Given the description of an element on the screen output the (x, y) to click on. 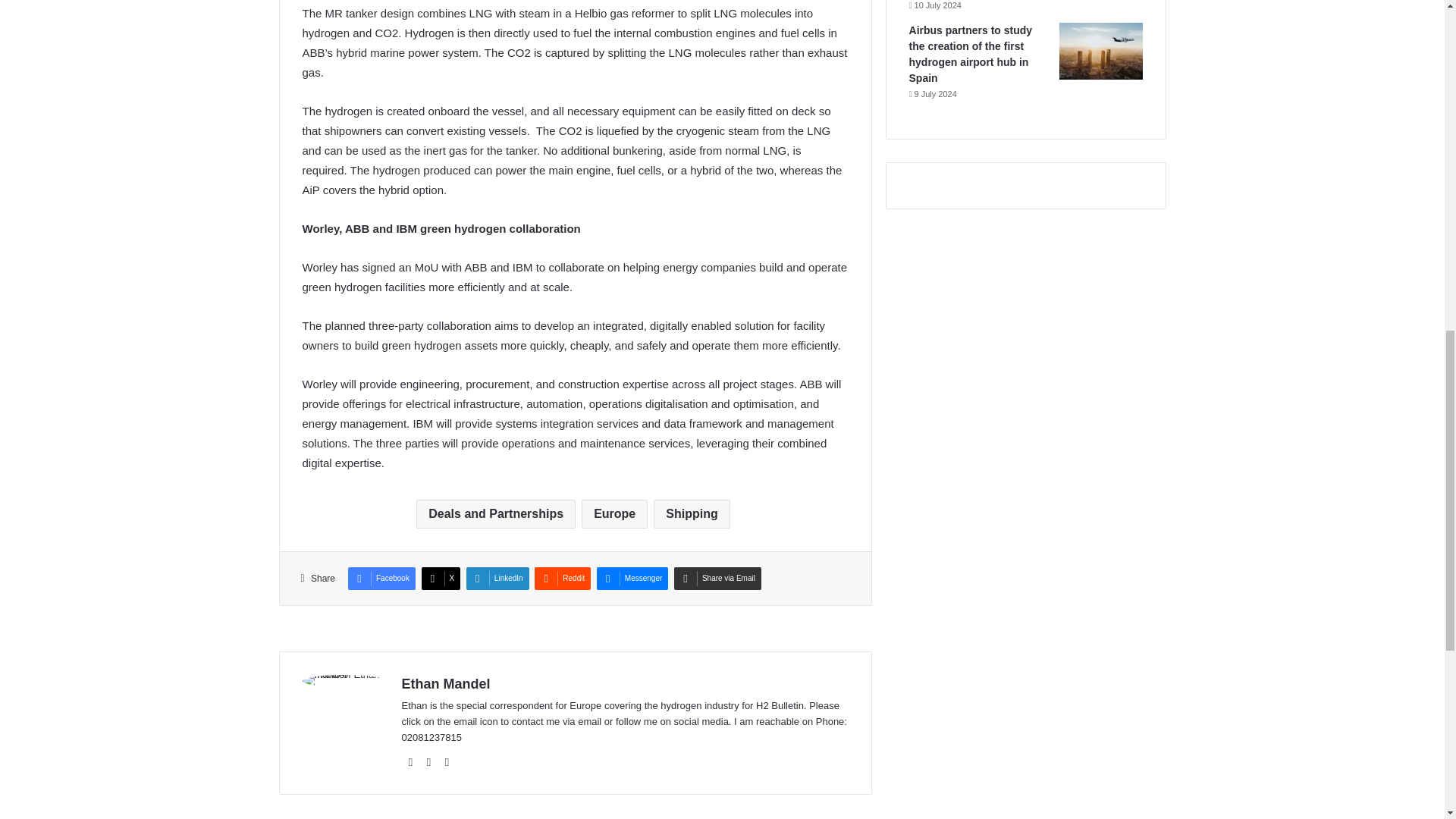
LinkedIn (497, 578)
Reddit (562, 578)
Reddit (562, 578)
X (441, 578)
LinkedIn (447, 761)
Ethan Mandel (445, 683)
Facebook (380, 578)
Shipping (691, 513)
Messenger (632, 578)
Share via Email (717, 578)
X (441, 578)
Facebook (380, 578)
Website (410, 761)
Europe (613, 513)
Share via Email (717, 578)
